Given the description of an element on the screen output the (x, y) to click on. 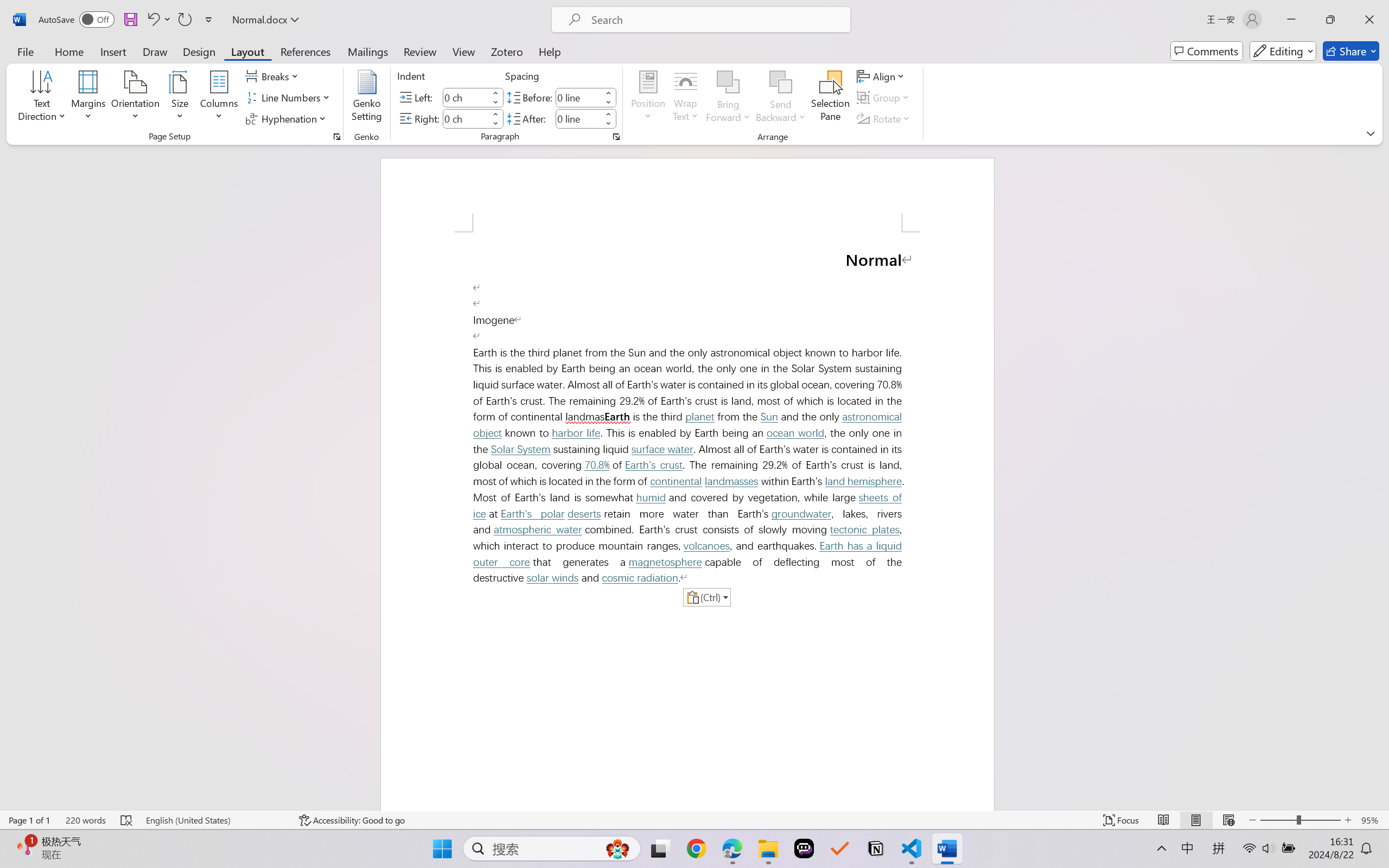
Less (608, 123)
Indent Left (465, 96)
groundwater (800, 513)
atmospheric water (537, 529)
ocean world (794, 433)
Send Backward (781, 97)
Header -Section 1- (687, 194)
Solar System (520, 448)
Breaks (273, 75)
